Given the description of an element on the screen output the (x, y) to click on. 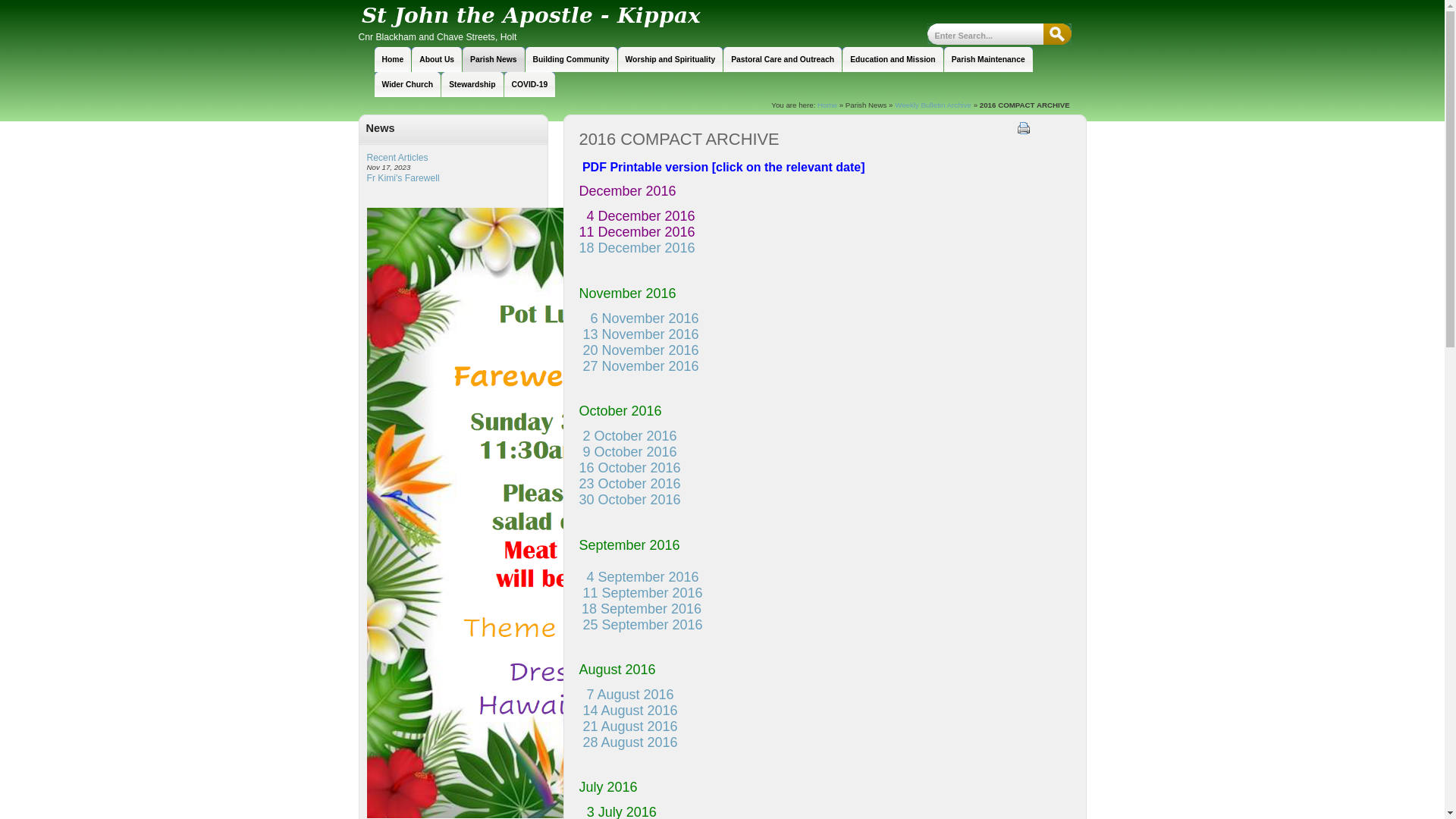
St John the Apostle - Kippax Element type: text (590, 15)
Building Community Element type: text (571, 59)
Home Element type: text (392, 59)
About Us Element type: text (436, 59)
6 November 2016 Element type: text (644, 318)
Home Element type: text (827, 104)
18 December 2016 Element type: text (637, 247)
4 September 2016
  Element type: text (639, 584)
Print this page Element type: hover (1023, 128)
Recent Articles Element type: text (397, 157)
COVID-19 Element type: text (529, 84)
Submit Element type: text (1057, 33)
Pastoral Care and Outreach Element type: text (782, 59)
23 October 2016 Element type: text (629, 483)
 2 October 2016 Element type: text (628, 435)
9 October 2016 Element type: text (630, 451)
11 December 2016 Element type: text (637, 231)
Worship and Spirituality Element type: text (670, 59)
Stewardship Element type: text (471, 84)
28 August 2016 Element type: text (630, 741)
Education and Mission Element type: text (892, 59)
Fr Kimi's Farewell Element type: text (403, 177)
30 October 2016 Element type: text (629, 499)
18 September 2016 Element type: text (641, 608)
21 August 2016 Element type: text (630, 726)
4 December 2016 Element type: text (640, 215)
Parish News Element type: text (493, 59)
13 November 2016
  Element type: text (639, 341)
14 August 2016 Element type: text (630, 710)
7 August 2016
  Element type: text (626, 702)
Wider Church Element type: text (407, 84)
11 September 2016 Element type: text (642, 592)
Weekly Bulletin Archive Element type: text (932, 104)
Parish Maintenance Element type: text (988, 59)
27 November 2016 Element type: text (641, 365)
16 October 2016 Element type: text (629, 467)
20 November 2016 Element type: text (641, 349)
25 September 2016 Element type: text (642, 624)
